Given the description of an element on the screen output the (x, y) to click on. 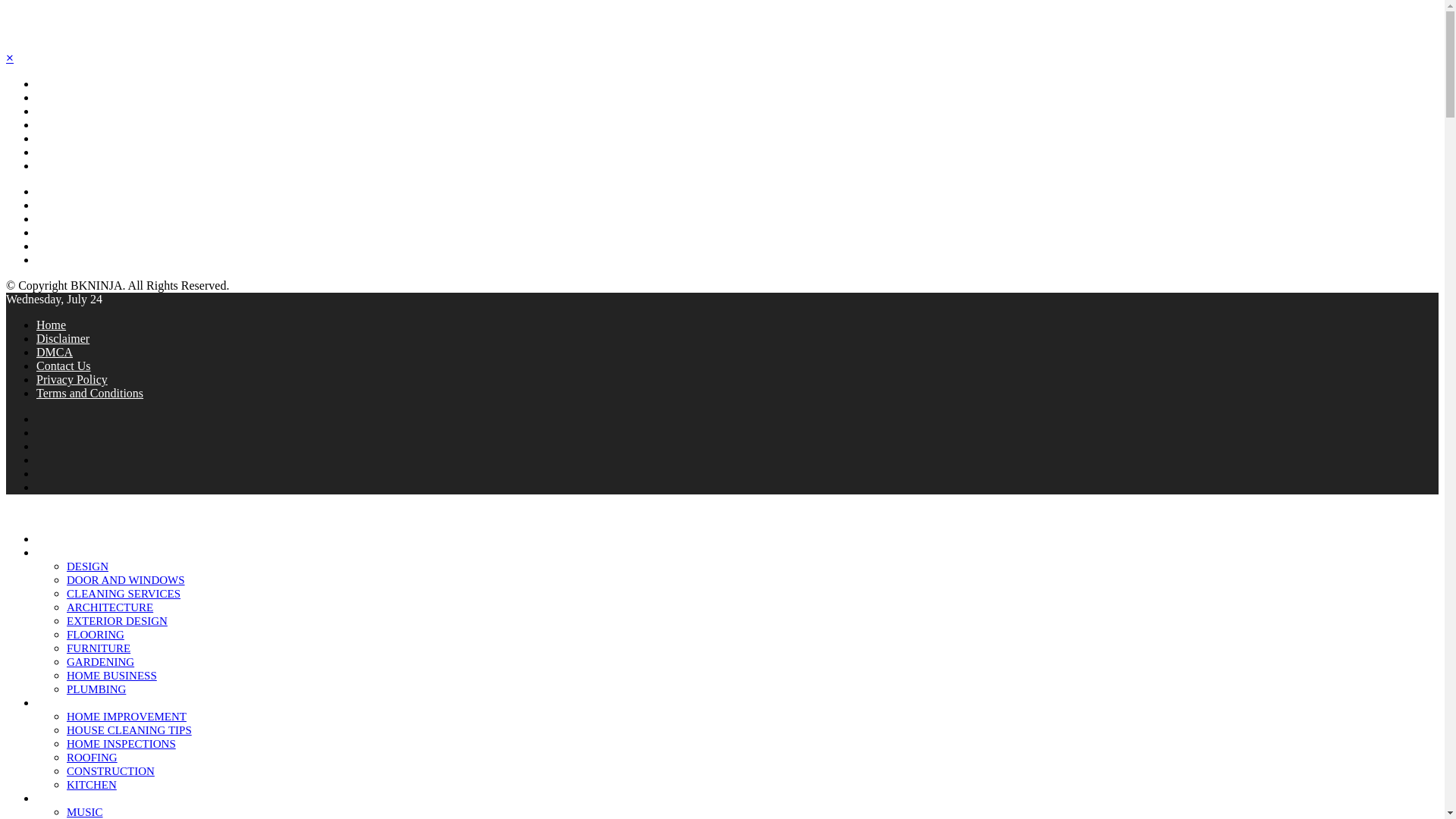
Privacy Policy (71, 379)
Contact Us (63, 365)
DESIGN (86, 566)
DECOR (55, 552)
Terms and Conditions (89, 392)
Interior (52, 111)
Contact Us (61, 165)
Real Estate (61, 138)
Decor (50, 97)
EXTERIOR DESIGN (116, 621)
ARCHITECTURE (109, 607)
Home (50, 83)
CLEANING SERVICES (123, 593)
DMCA (54, 351)
DOOR AND WINDOWS (125, 580)
